Given the description of an element on the screen output the (x, y) to click on. 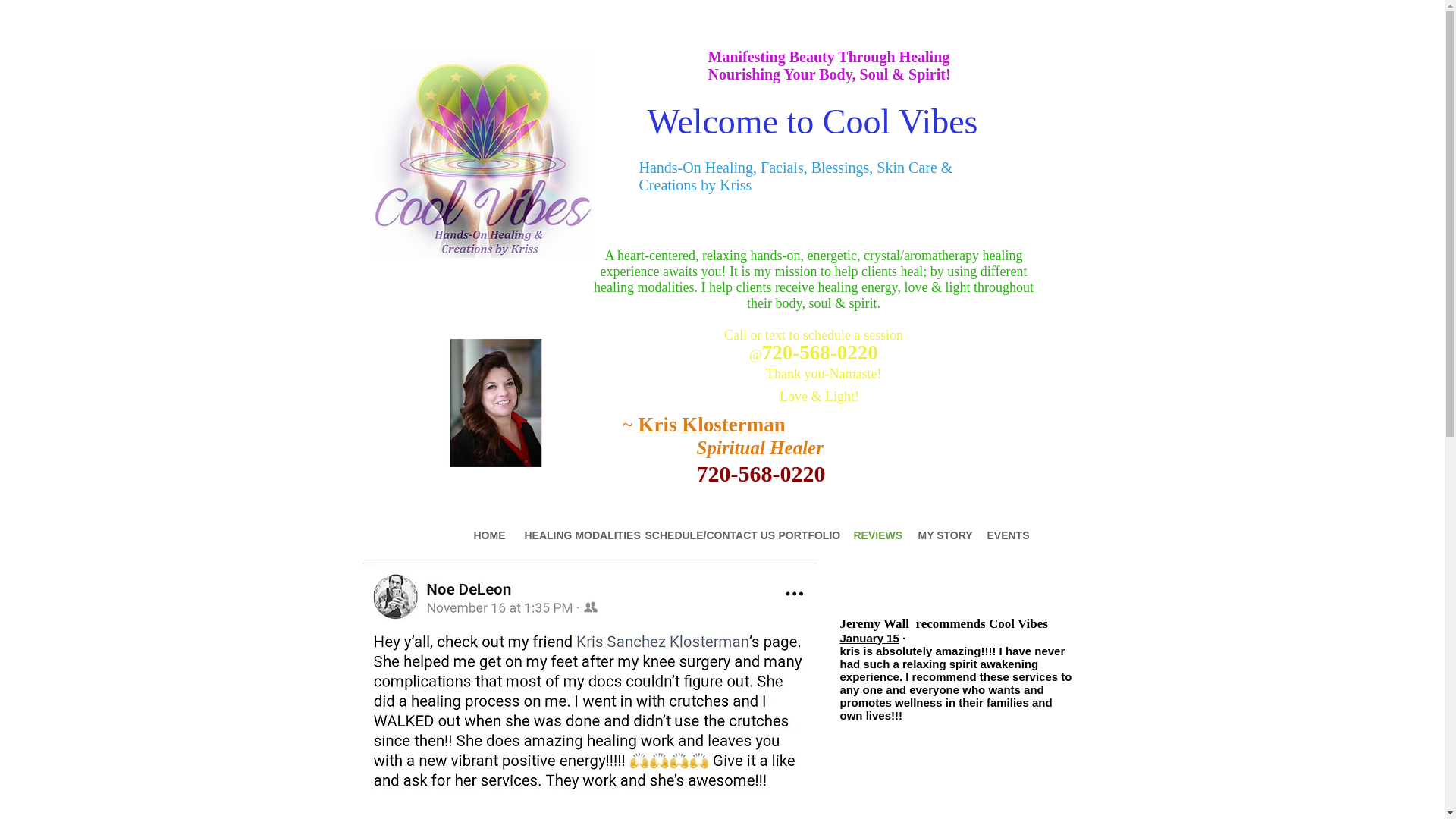
March 9 at 6:46 AM (427, 717)
January 15 (869, 637)
Call or text to schedule a session (812, 342)
Cool Vibes (573, 702)
MY STORY (941, 535)
Jeremy Wall (874, 623)
              720-568-0220 (721, 473)
Welcome to Cool Vibes (812, 121)
Manifesting Beauty Through Healing  (830, 56)
HEALING MODALITIES (572, 535)
EVENTS (1004, 535)
Cool Vibes (1018, 623)
PORTFOLIO (805, 535)
REVIEWS (873, 535)
HOME (488, 535)
